Given the description of an element on the screen output the (x, y) to click on. 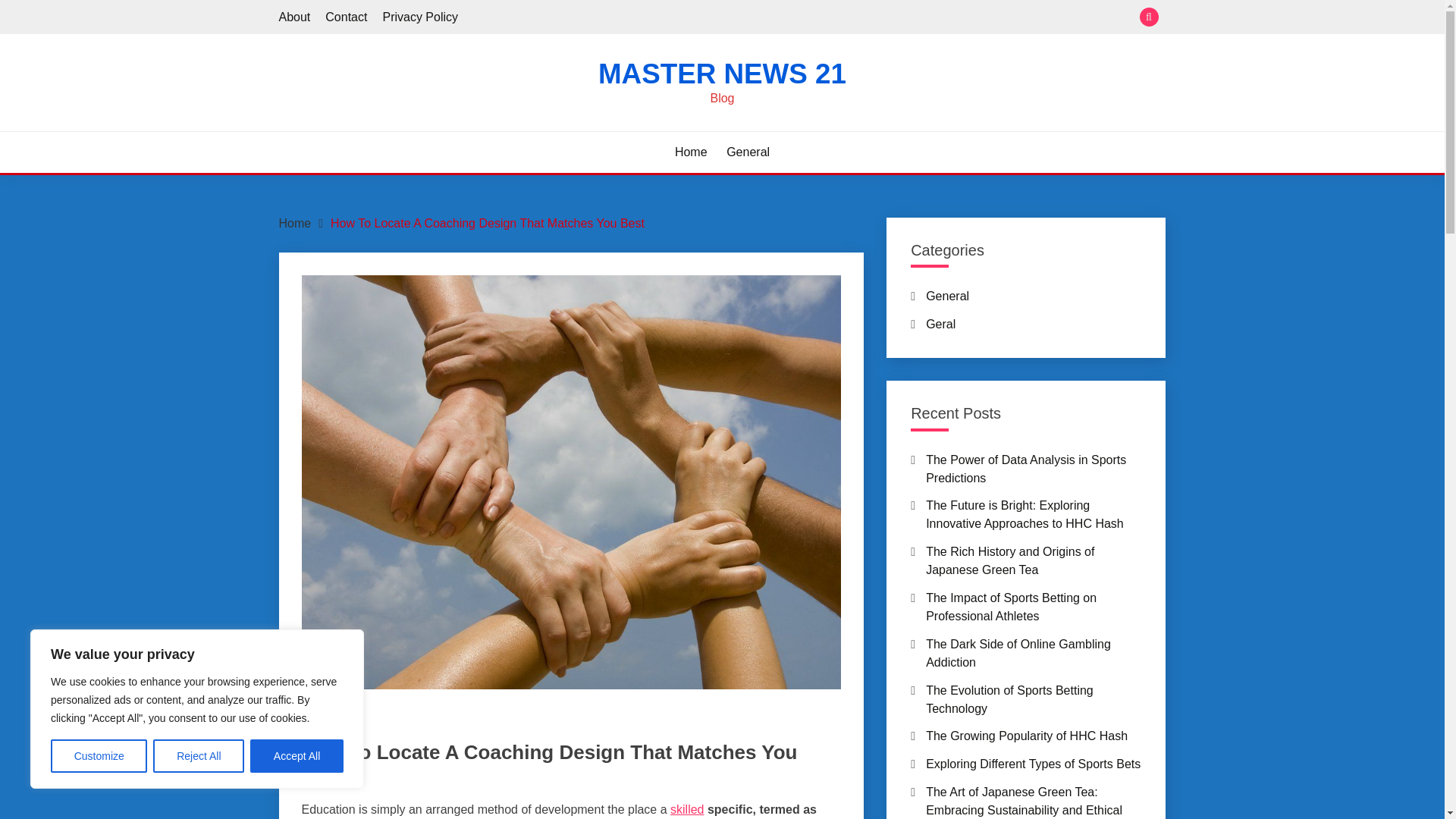
General (321, 723)
Contact (345, 16)
Home (691, 152)
MASTER NEWS 21 (721, 73)
Accept All (296, 756)
How To Locate A Coaching Design That Matches You Best (487, 223)
skilled (686, 809)
Home (295, 223)
About (295, 16)
Reject All (198, 756)
General (748, 152)
Privacy Policy (419, 16)
Customize (98, 756)
